Given the description of an element on the screen output the (x, y) to click on. 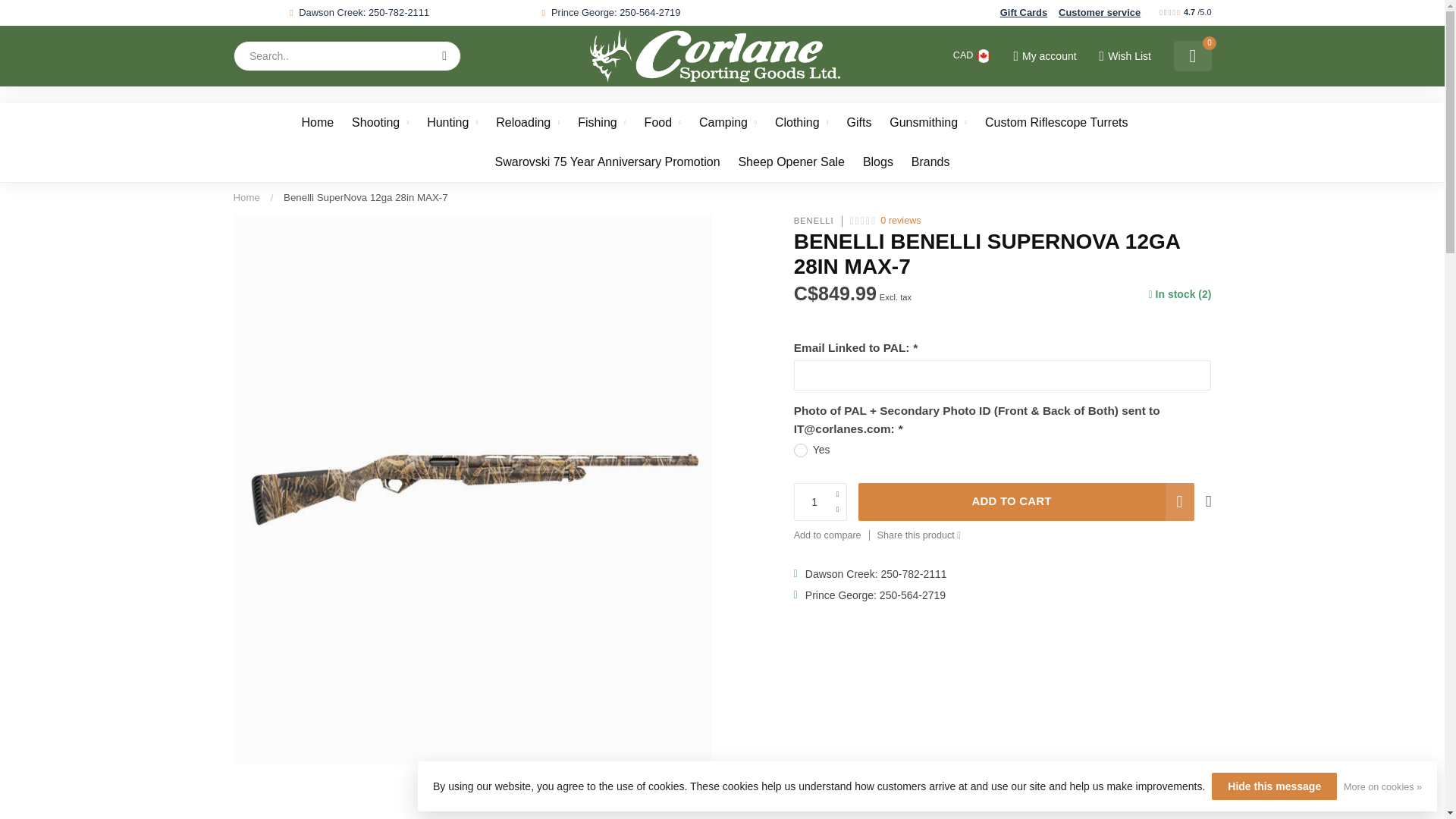
1 (1060, 244)
1 (820, 501)
Gift Cards (1023, 12)
Wish List (1124, 55)
Shooting (380, 122)
My account (1044, 55)
Home (246, 197)
Customer service (1099, 12)
0 (1192, 55)
Wish List (1124, 55)
